Given the description of an element on the screen output the (x, y) to click on. 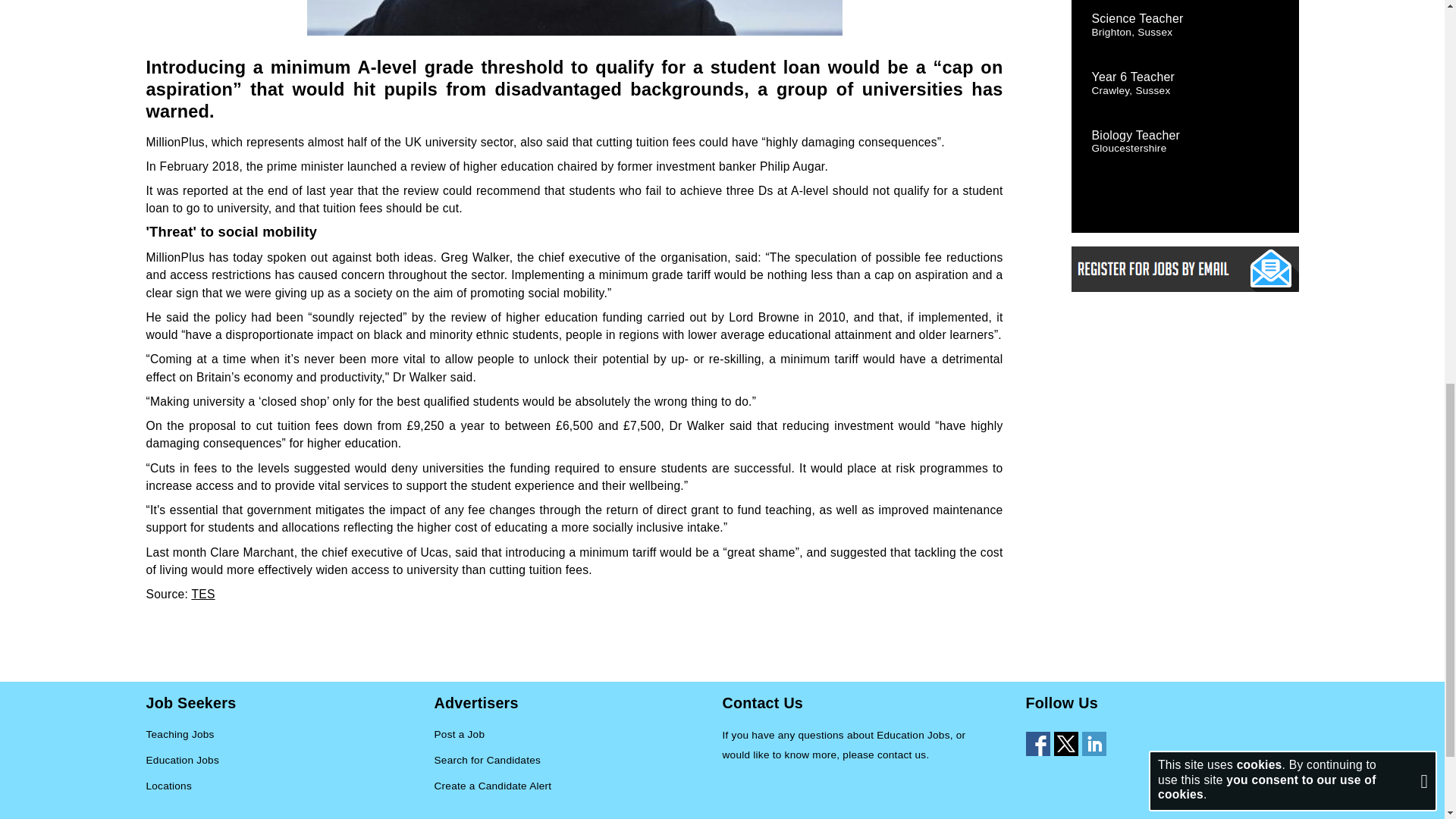
Search for Candidates (486, 761)
Science Teacher (1137, 18)
Education Jobs (181, 761)
Year 6 Teacher (1133, 76)
Biology Teacher (1136, 134)
Teaching Jobs (179, 735)
TES (202, 594)
Create a Candidate Alert (492, 786)
Locations (167, 786)
Science Teacher (1137, 18)
Biology Teacher (1136, 134)
Year 6 Teacher (1133, 76)
contact us (901, 754)
Post a Job (458, 735)
